Given the description of an element on the screen output the (x, y) to click on. 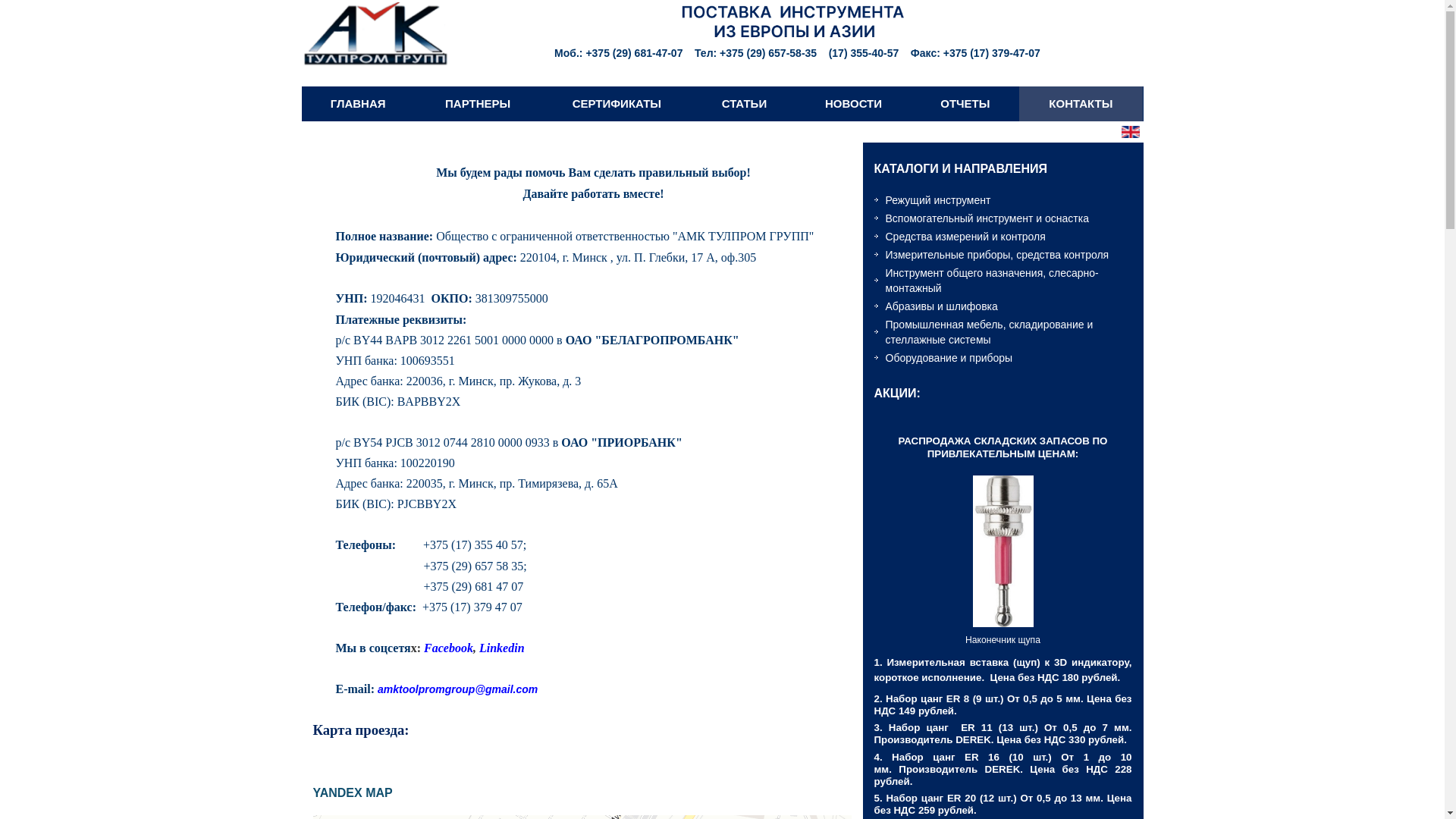
English (UK) Element type: hover (1129, 131)
Facebook Element type: text (448, 647)
Linkedin Element type: text (501, 647)
amktoolpromgroup@gmail.com Element type: text (457, 689)
